Given the description of an element on the screen output the (x, y) to click on. 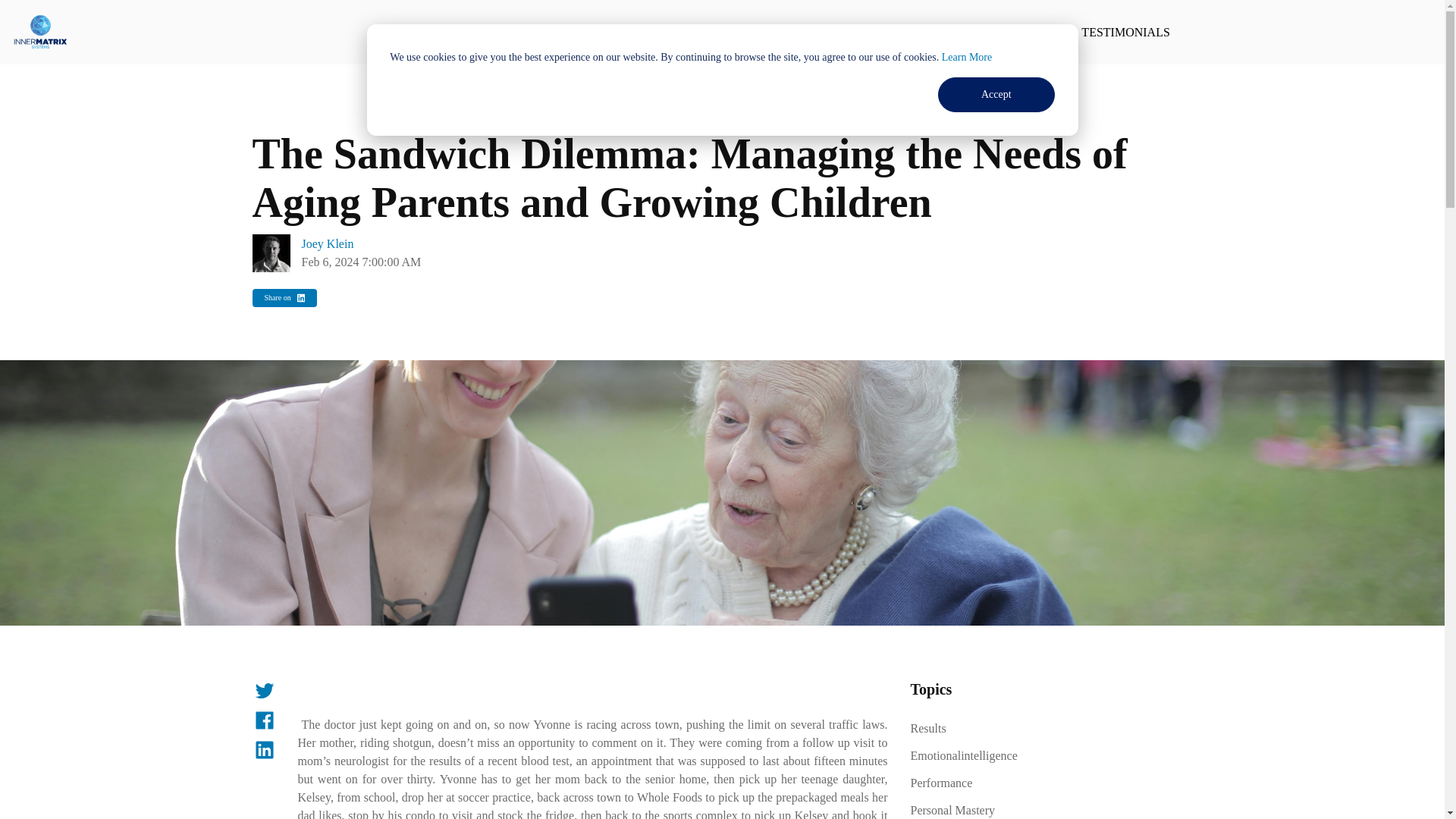
Emotionalintelligence (963, 755)
Results (927, 728)
MEMBERSHIPS (749, 31)
Share on (284, 298)
COMMUNITIES (938, 31)
BLOG (1031, 31)
PROGRAMS (638, 31)
STORE (844, 31)
Accept (995, 94)
Performance (941, 782)
Personal Mastery (952, 807)
TRAINERS (542, 31)
TESTIMONIALS (1125, 31)
Learn More (966, 57)
Joey Klein (327, 243)
